Given the description of an element on the screen output the (x, y) to click on. 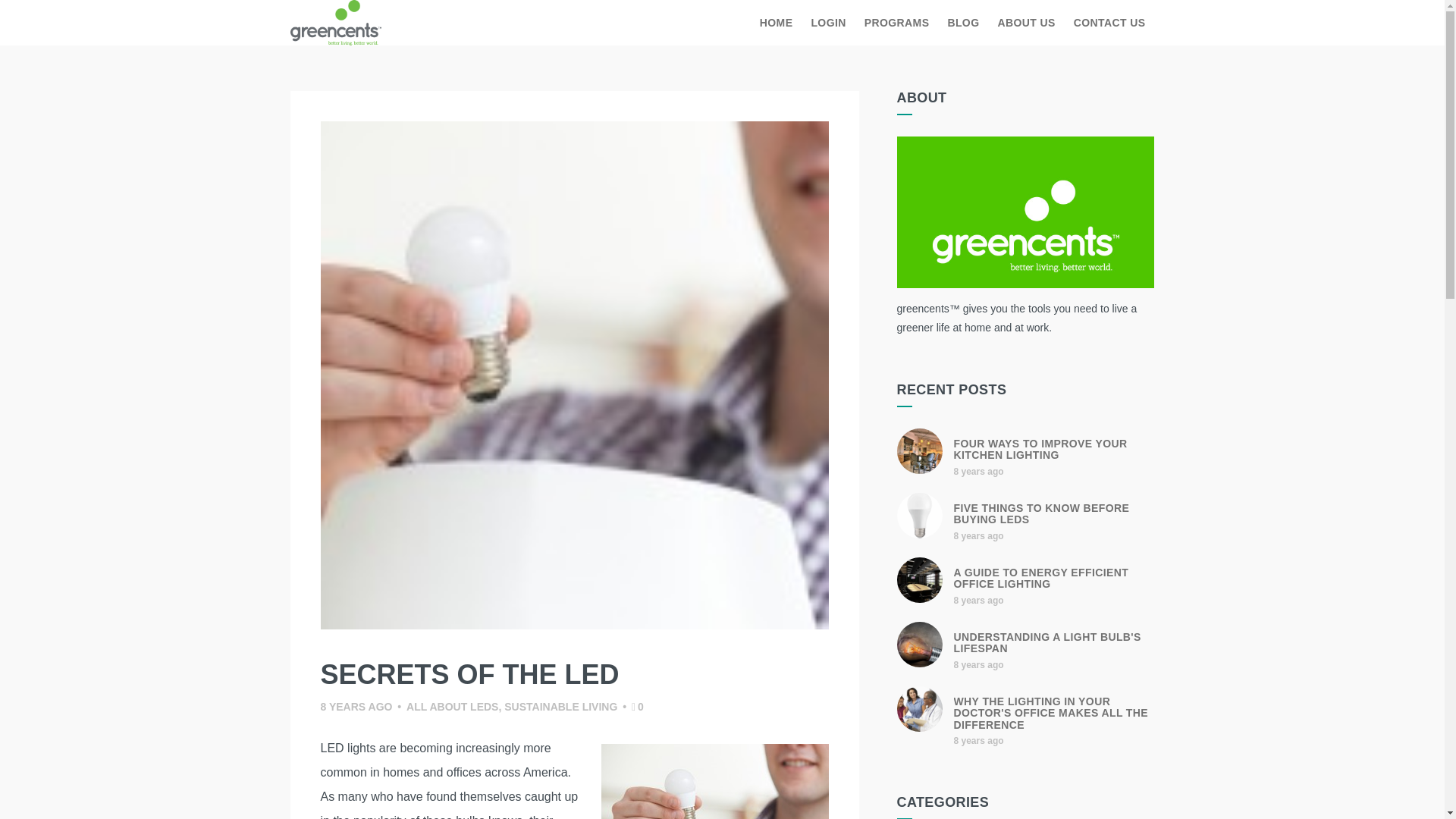
HOME (776, 22)
LOGIN (828, 22)
0 (637, 706)
SUSTAINABLE LIVING (560, 706)
ALL ABOUT LEDS (451, 706)
8 YEARS AGO (355, 706)
CONTACT US (1109, 22)
ABOUT US (1026, 22)
Click to love this post. (637, 706)
BLOG (962, 22)
PROGRAMS (897, 22)
